Given the description of an element on the screen output the (x, y) to click on. 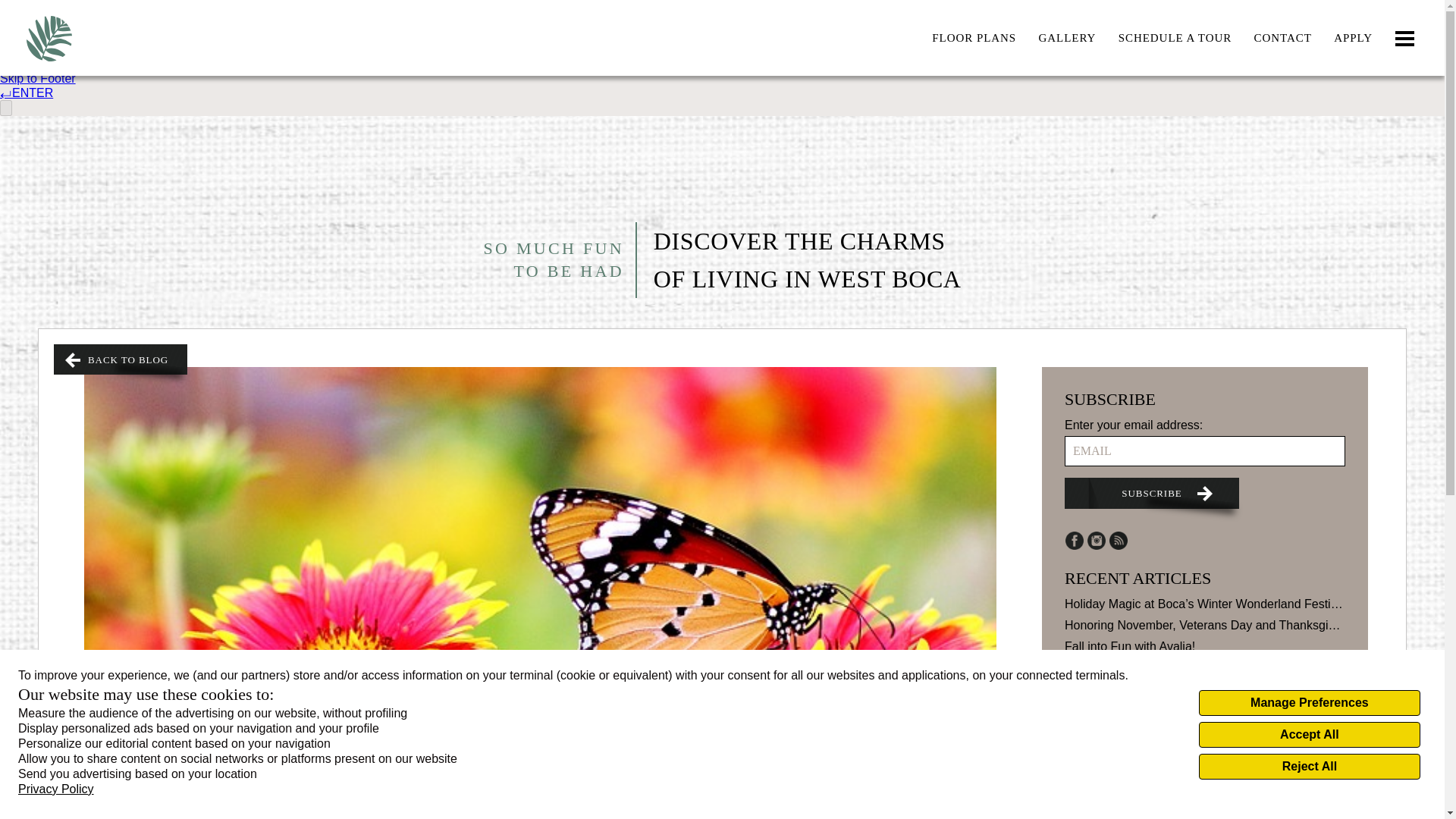
Email (1204, 450)
FLOOR PLANS (973, 38)
BACK TO BLOG (120, 359)
Fall into Fun with Avalia! (1204, 646)
SCHEDULE A TOUR (1174, 38)
Reject All (1309, 766)
Honoring November, Veterans Day and Thanksgiving with Avalia (1204, 626)
Privacy Policy (55, 789)
Subscribe (1151, 492)
Accept All (1309, 734)
